Given the description of an element on the screen output the (x, y) to click on. 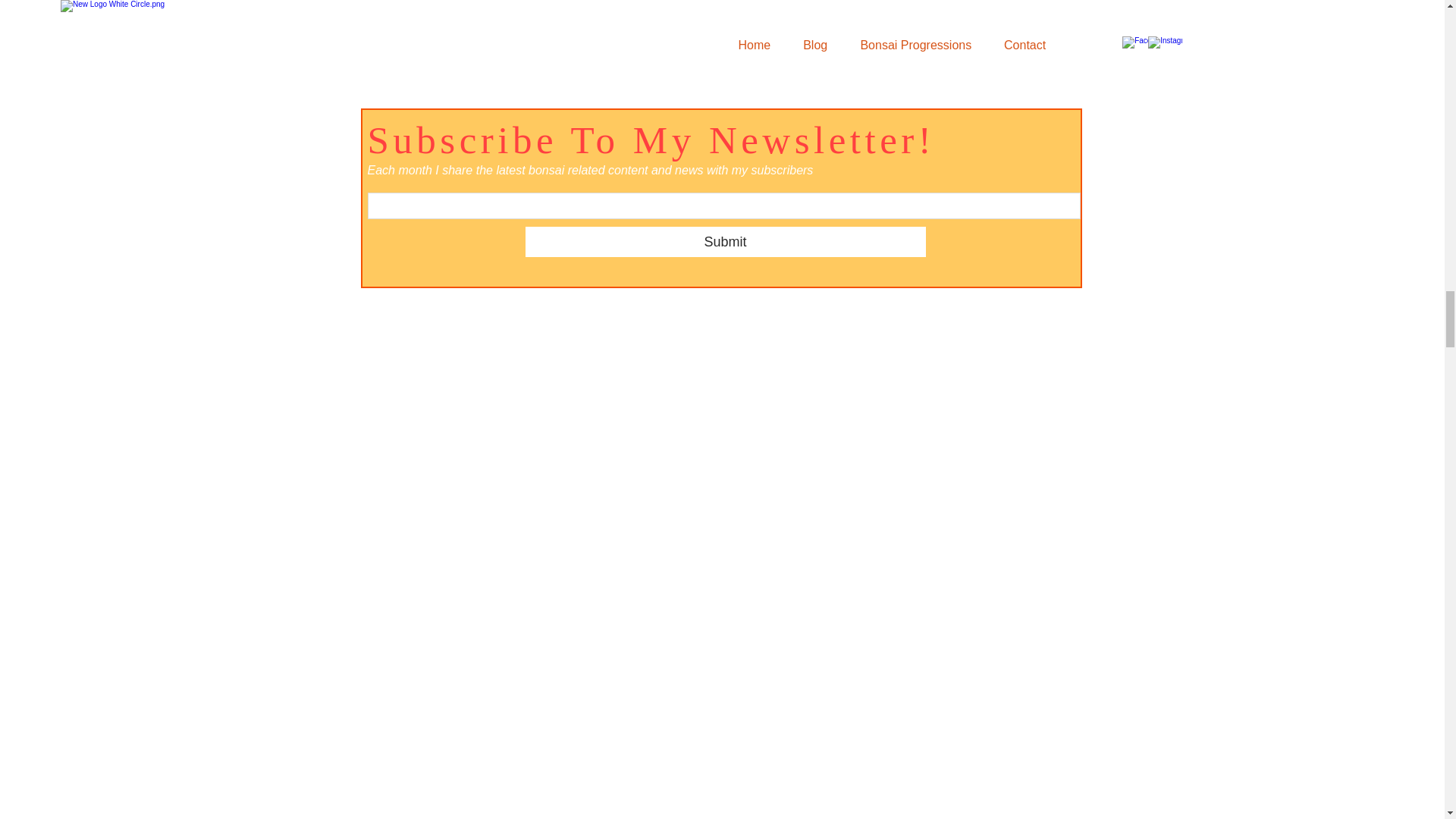
Submit (724, 241)
0 (453, 32)
0 (1046, 32)
0 (944, 32)
